Given the description of an element on the screen output the (x, y) to click on. 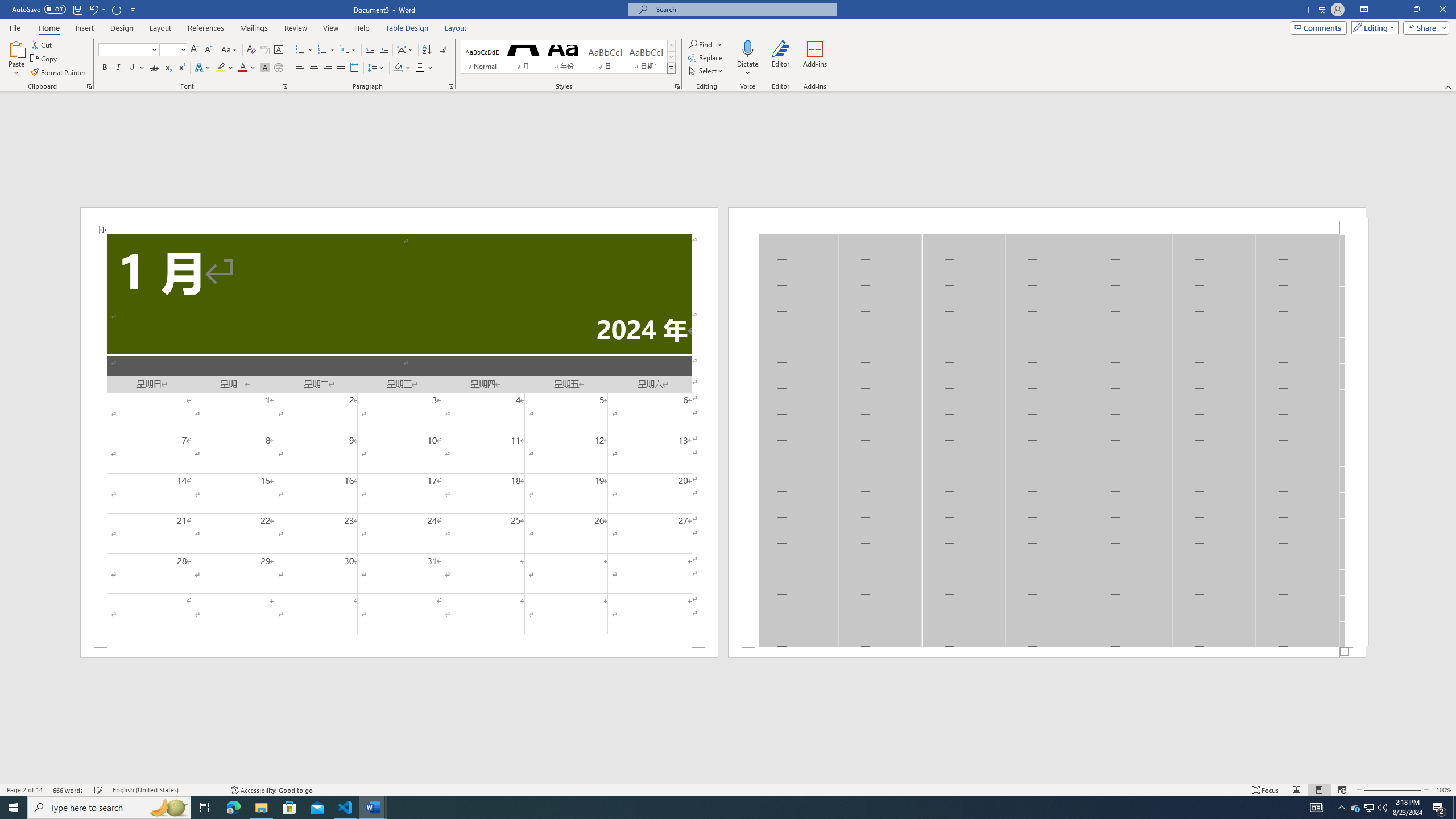
Page Number Page 2 of 14 (24, 790)
